Given the description of an element on the screen output the (x, y) to click on. 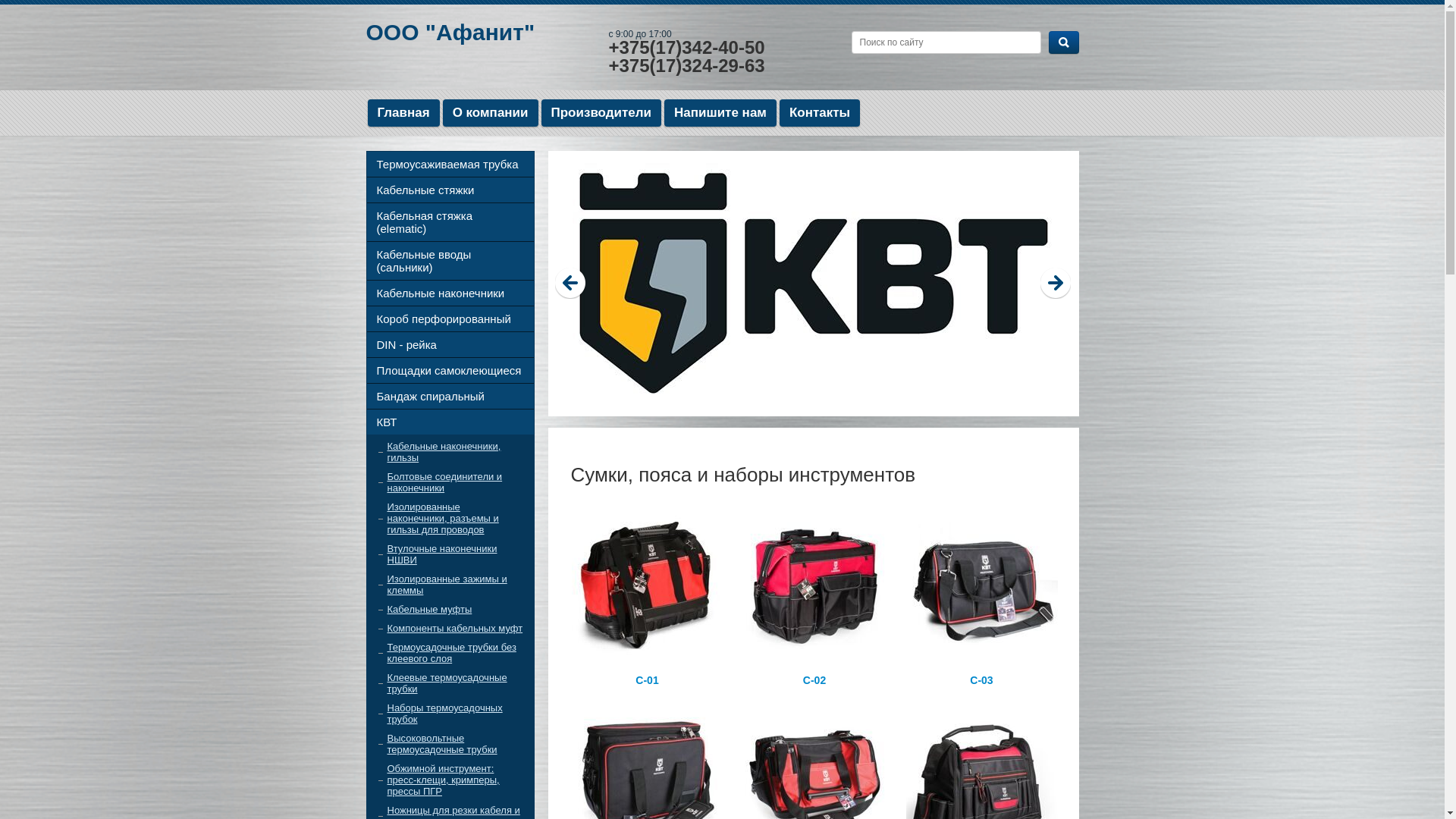
+375(17)342-40-50 Element type: text (686, 47)
+375(17)324-29-63 Element type: text (686, 65)
Next Element type: text (1056, 283)
C-01 Element type: text (646, 597)
Prev Element type: text (570, 283)
